Given the description of an element on the screen output the (x, y) to click on. 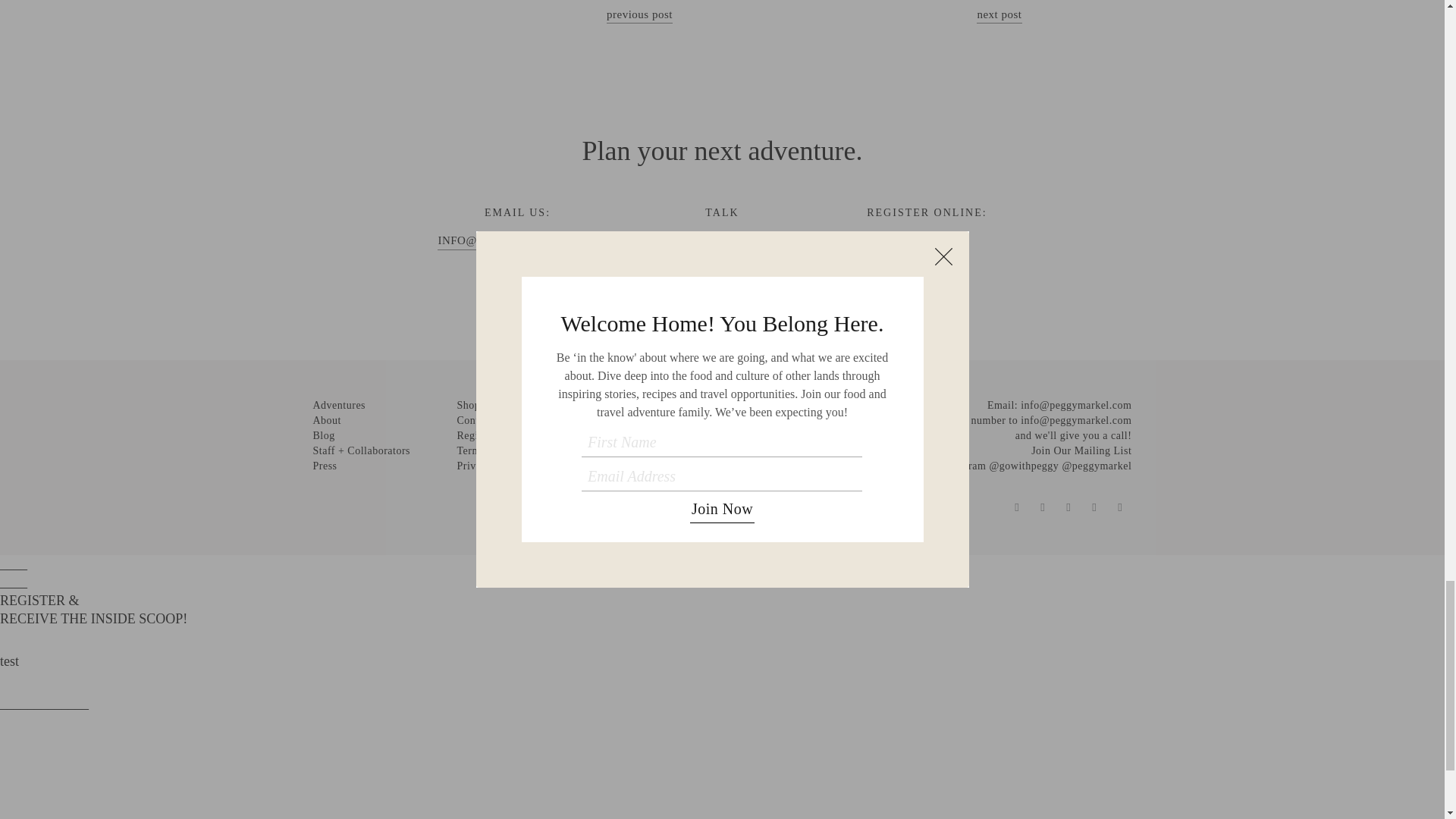
Visit us on Pinterest (1094, 506)
Visit us on Youtube (1119, 506)
Visit us on Instagram (1068, 506)
Visit us on Twitter (1042, 506)
Visit us on Facebook (1016, 506)
